Given the description of an element on the screen output the (x, y) to click on. 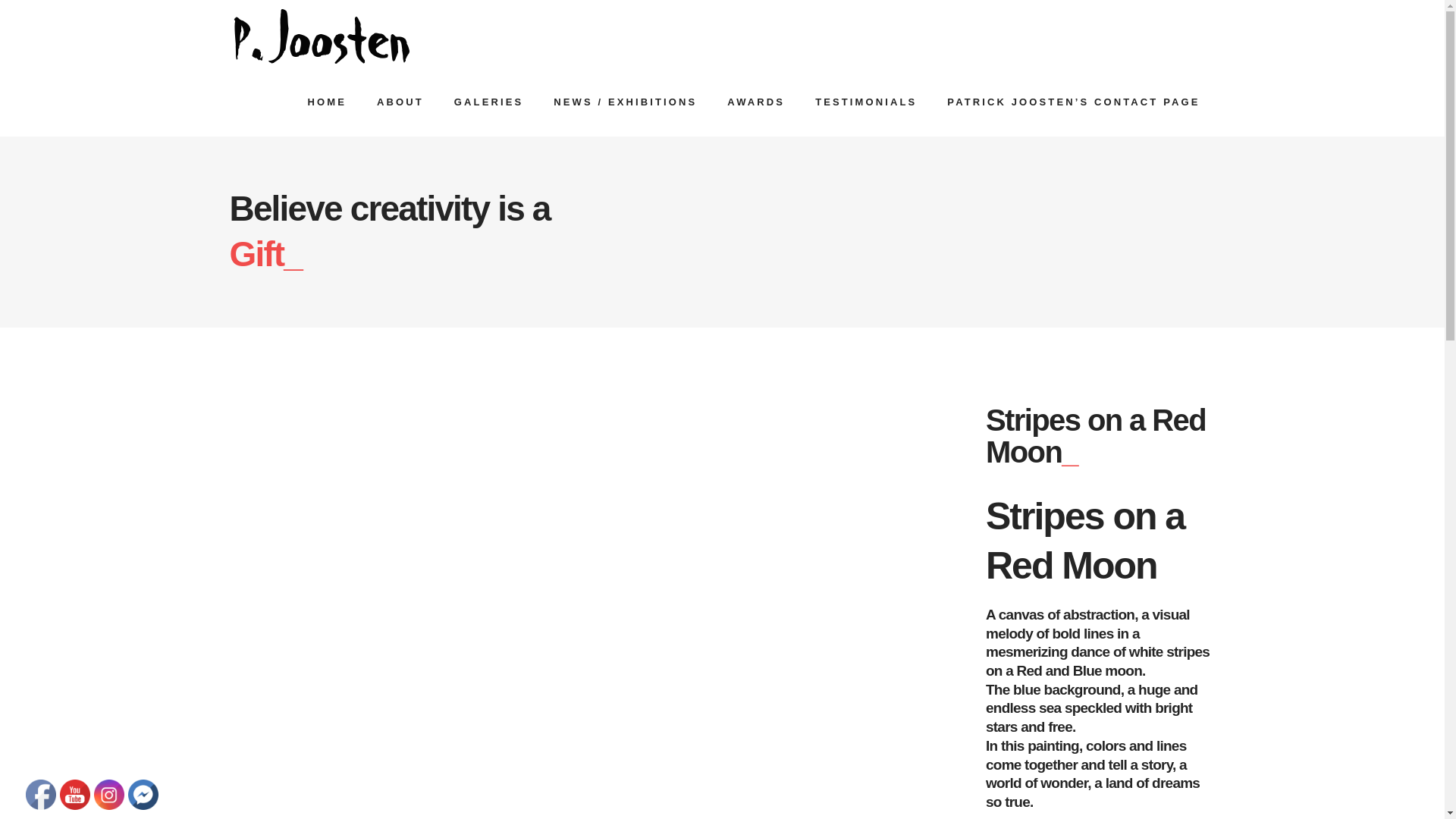
GALERIES (488, 101)
AWARDS (755, 101)
ABOUT (400, 101)
Instagram (108, 794)
Facebook (41, 794)
TESTIMONIALS (865, 101)
HOME (326, 101)
